Given the description of an element on the screen output the (x, y) to click on. 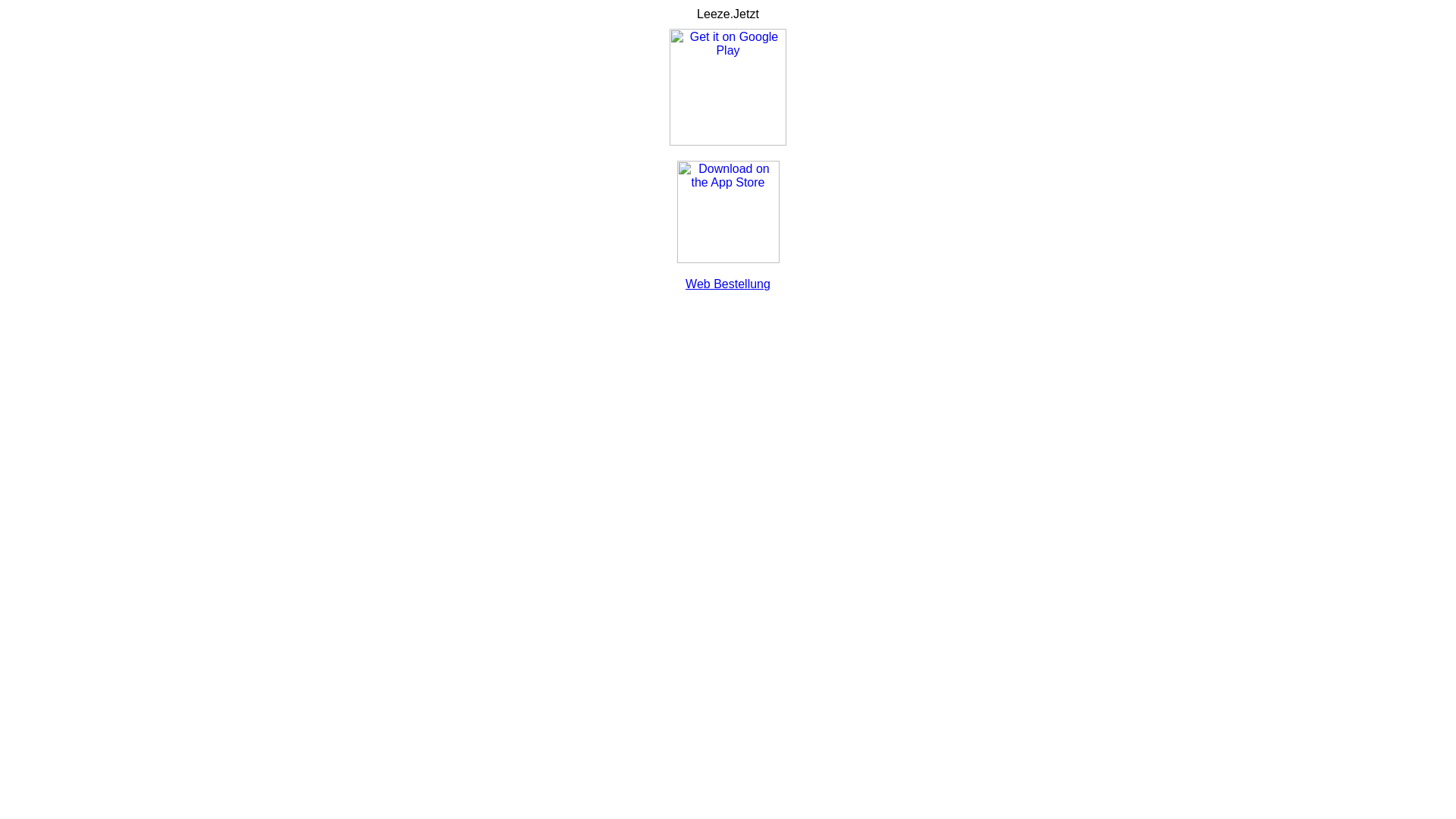
Web Bestellung Element type: text (727, 283)
